Given the description of an element on the screen output the (x, y) to click on. 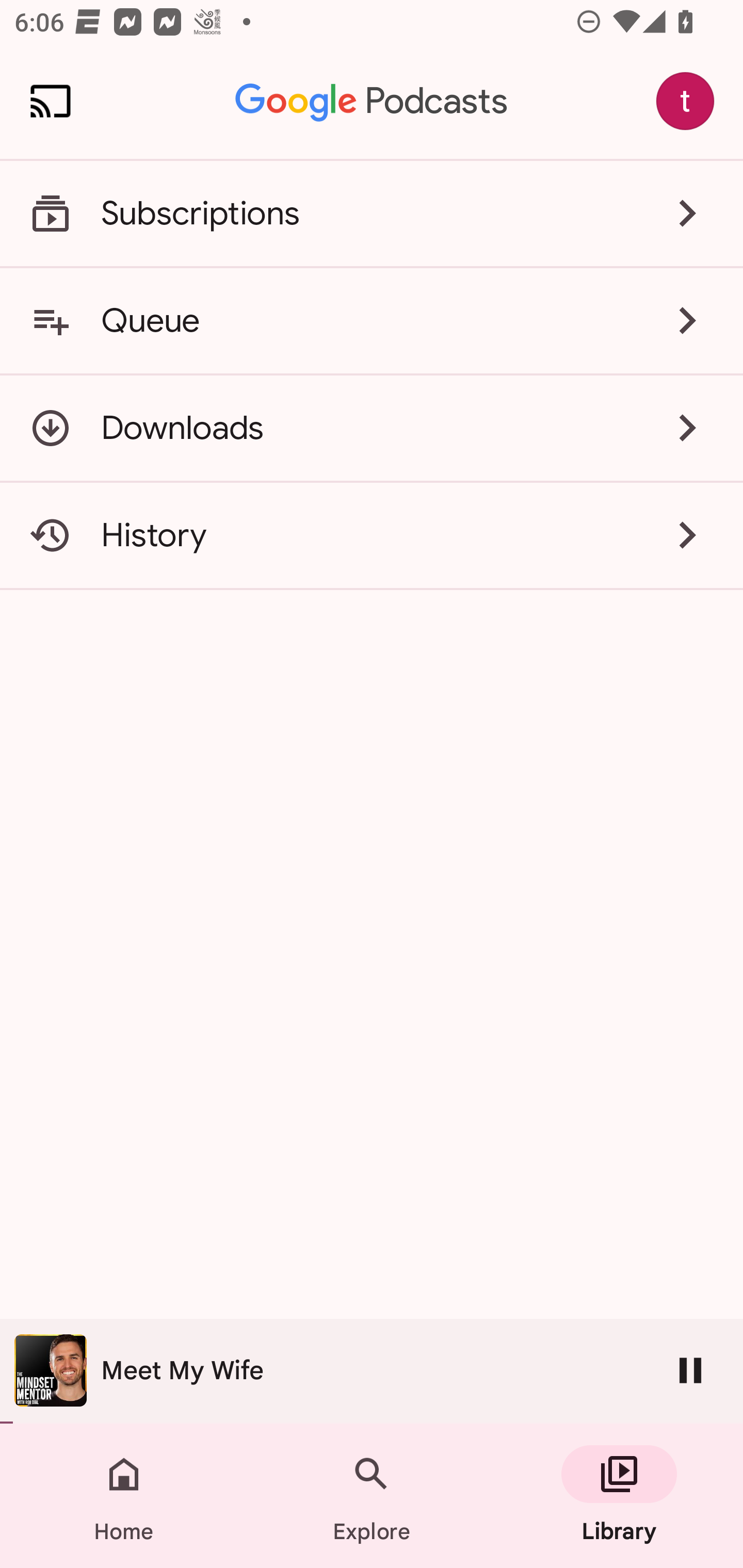
Cast. Disconnected (50, 101)
Subscriptions (371, 213)
Queue (371, 320)
Downloads (371, 427)
History (371, 535)
The Mindset Mentor Meet My Wife Pause 170.0 (371, 1370)
Pause (690, 1370)
Home (123, 1495)
Explore (371, 1495)
